Given the description of an element on the screen output the (x, y) to click on. 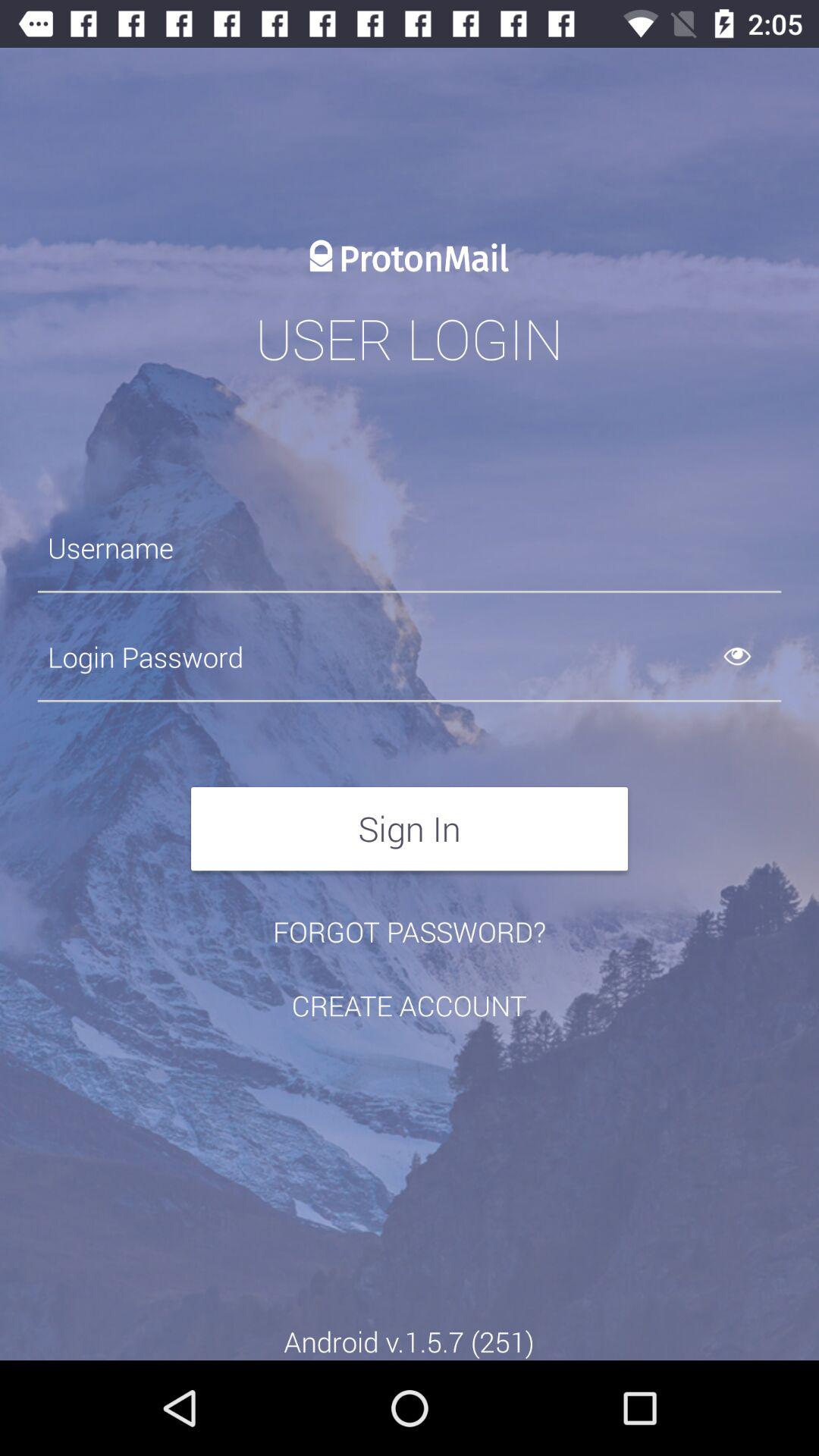
login password field (409, 656)
